Given the description of an element on the screen output the (x, y) to click on. 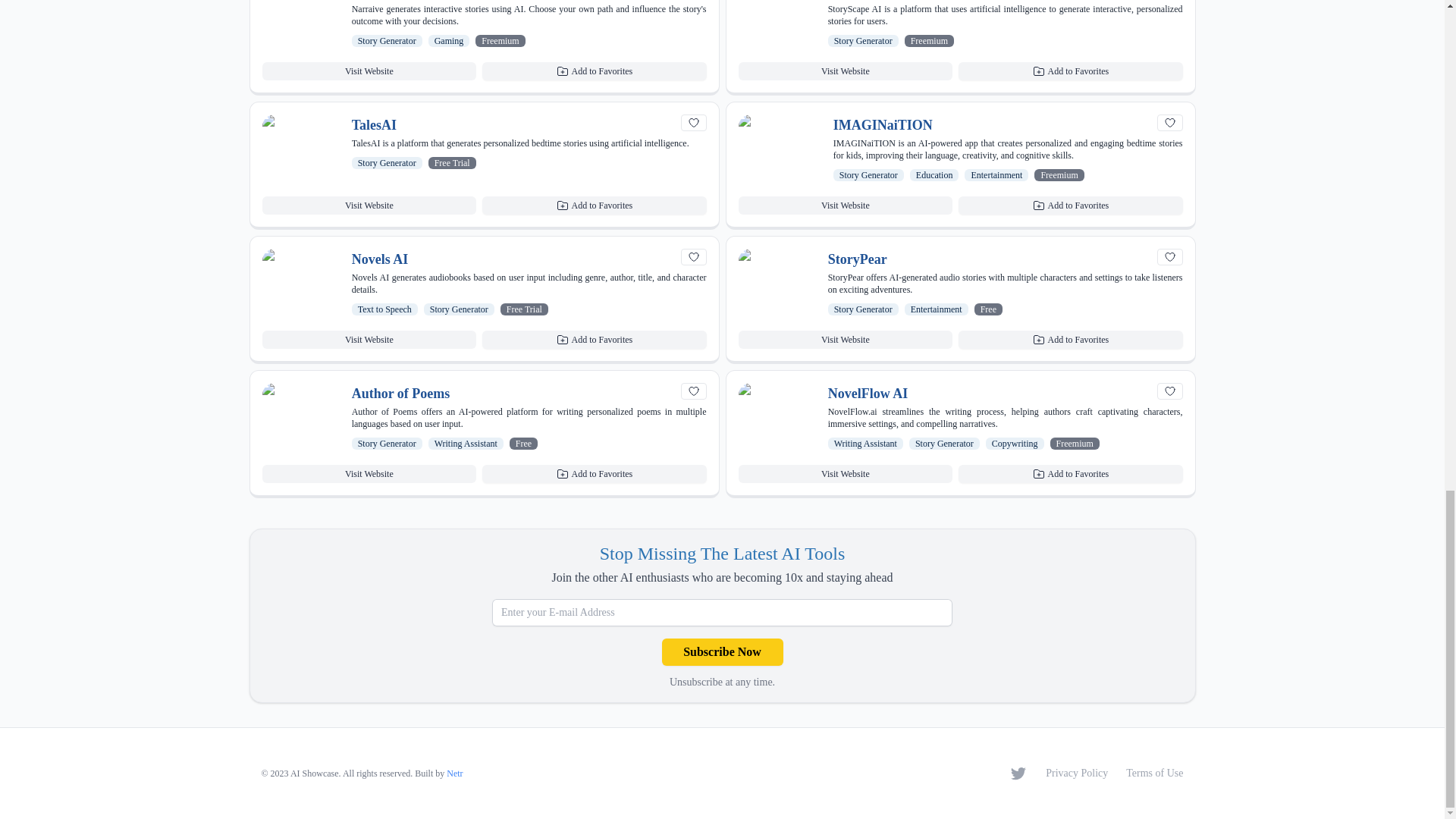
Story Generator (863, 40)
Narraive (378, 0)
Add to Favorites (593, 71)
StoryScape AI (870, 0)
Visit Website (369, 71)
Story Generator (387, 40)
Gaming (448, 40)
